Given the description of an element on the screen output the (x, y) to click on. 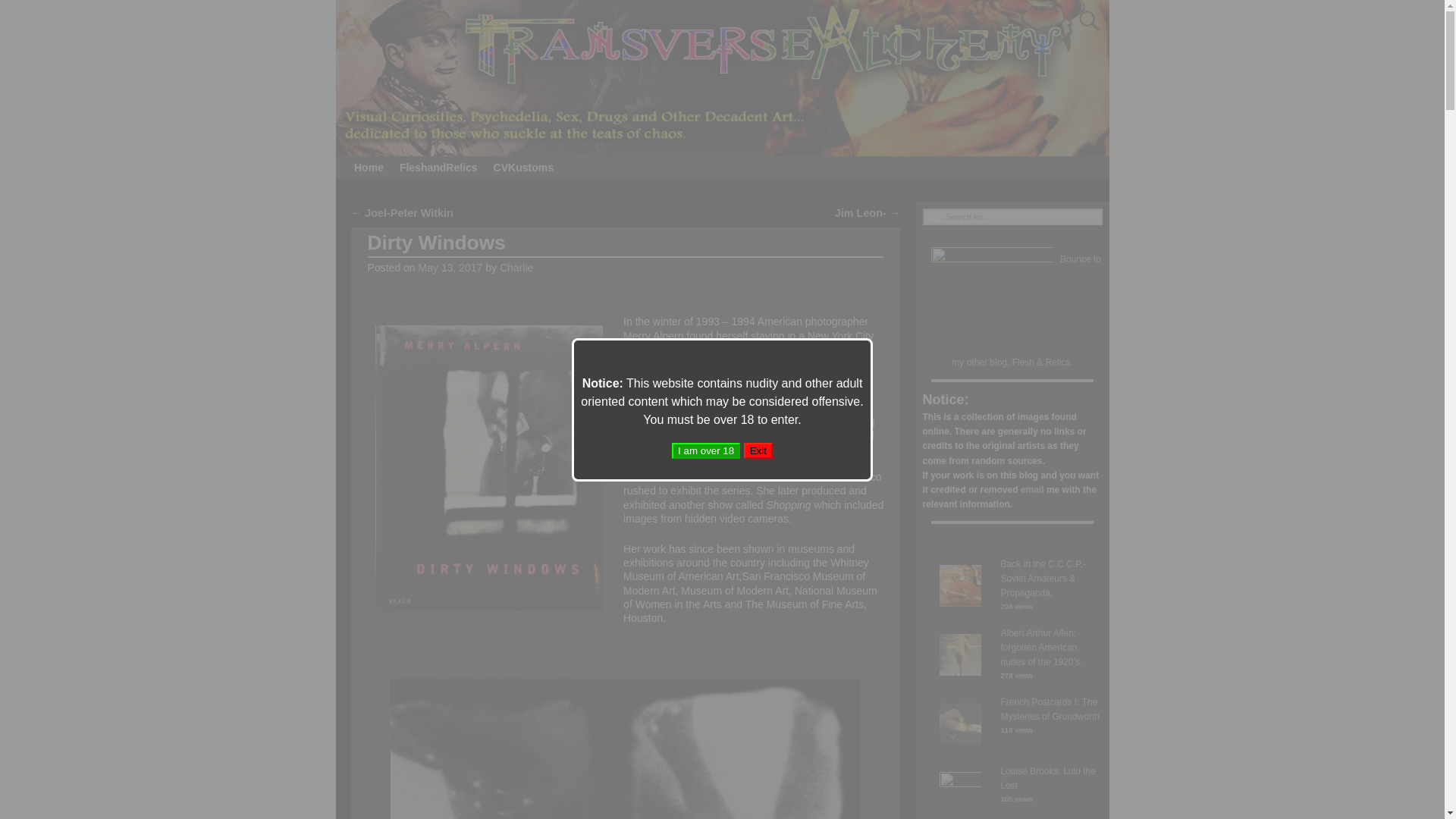
CVKustoms (522, 167)
FleshandRelics (437, 167)
3:00 pm (451, 267)
Exit (758, 450)
Home (368, 167)
View all posts by Charlie (515, 267)
May 13, 2017 (451, 267)
Charlie (515, 267)
I am over 18 (705, 450)
